Given the description of an element on the screen output the (x, y) to click on. 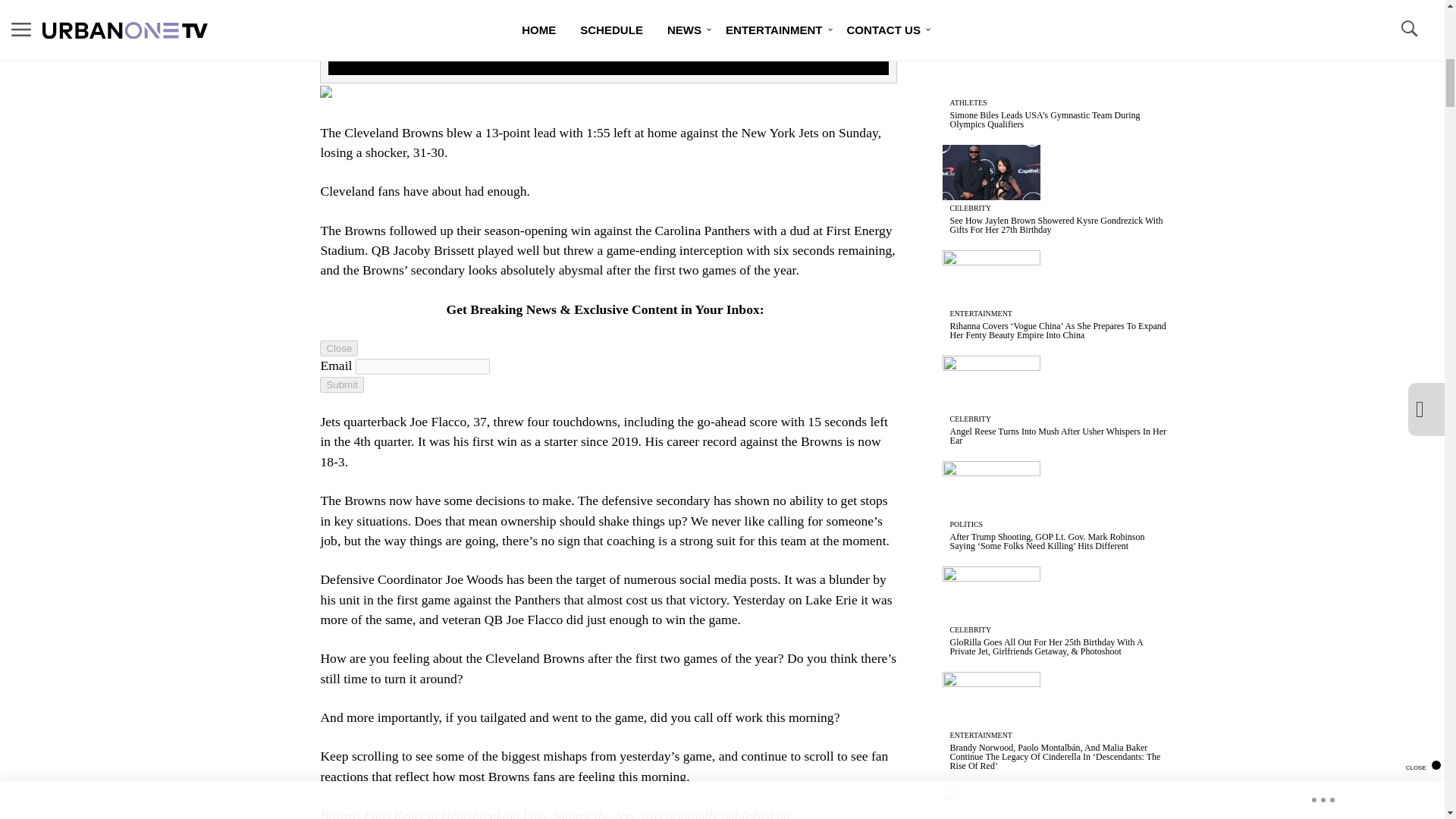
CELEBRITY (970, 418)
ATHLETES (968, 102)
CELEBRITY (970, 629)
Angel Reese Turns Into Mush After Usher Whispers In Her Ear (1058, 435)
POLITICS (966, 524)
ENTERTAINMENT (980, 313)
Submit (341, 384)
Close (339, 348)
CELEBRITY (970, 207)
Browns Fans React to Heartbreaking Loss Against the Jets (477, 813)
